Given the description of an element on the screen output the (x, y) to click on. 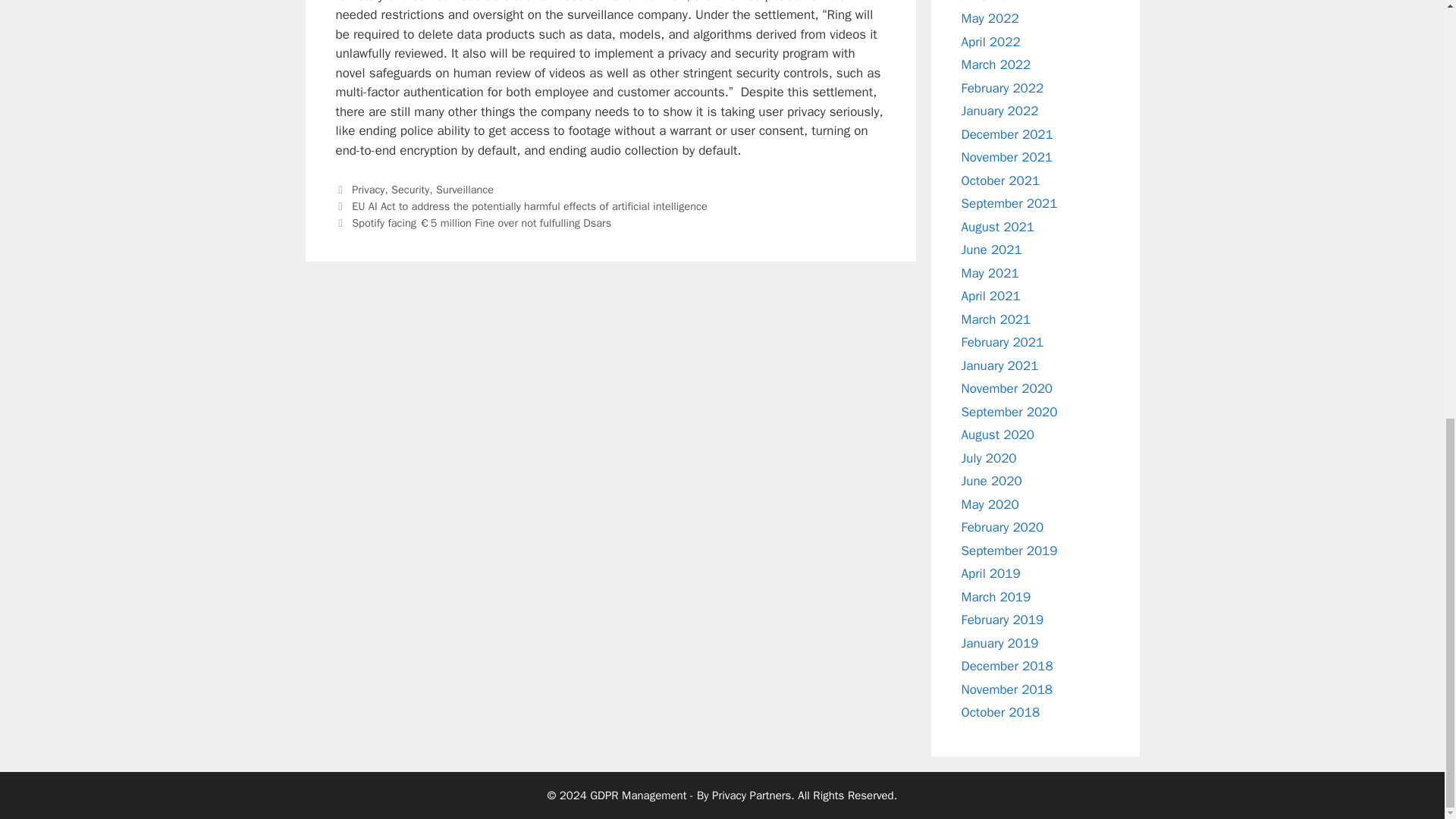
Security (410, 189)
Privacy (368, 189)
June 2022 (991, 1)
Surveillance (464, 189)
